Given the description of an element on the screen output the (x, y) to click on. 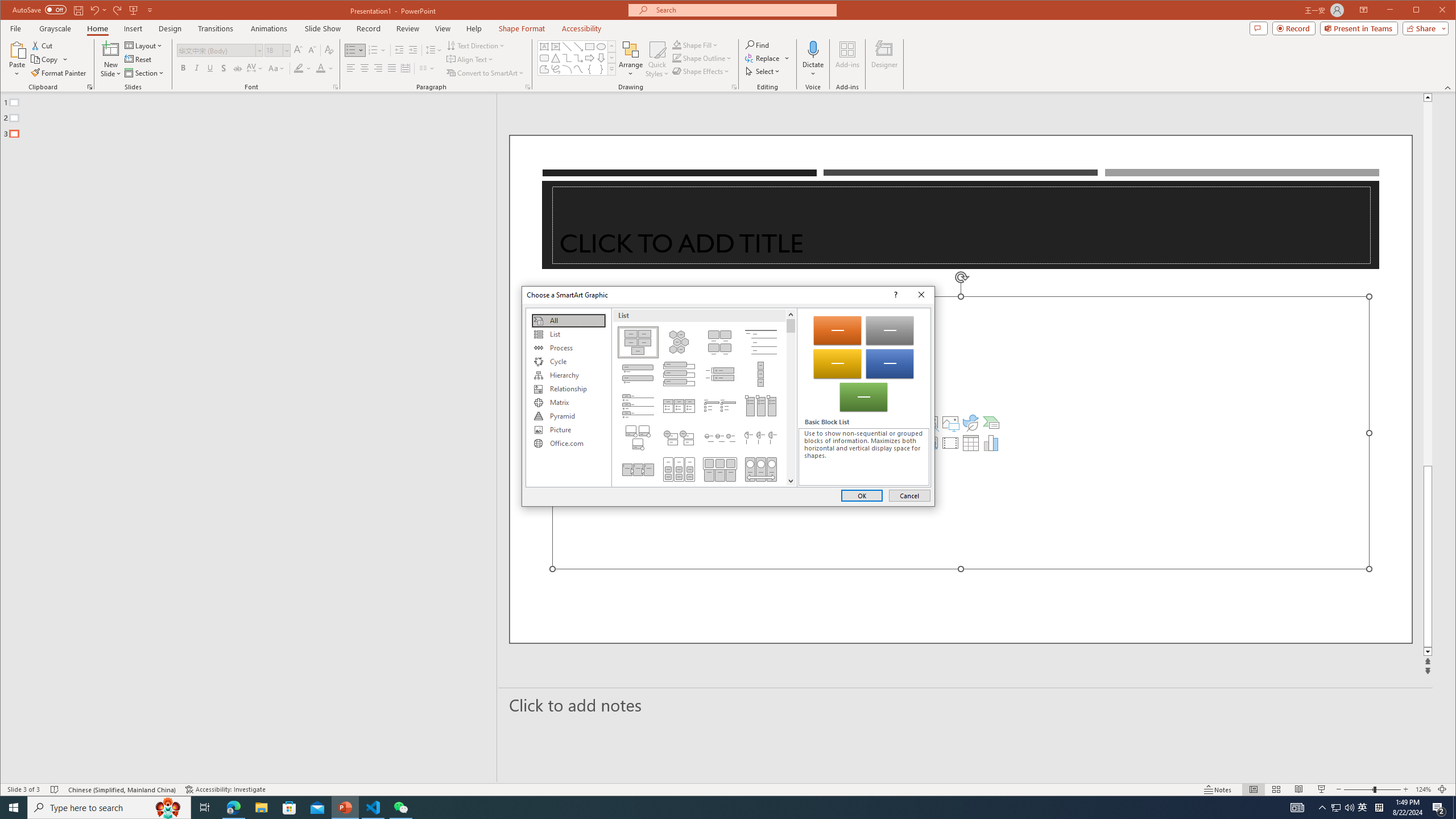
Graphic Categories (568, 397)
Lined List (761, 342)
Maximize (1432, 11)
Office.com (568, 443)
Process (568, 347)
Matrix (568, 402)
